Given the description of an element on the screen output the (x, y) to click on. 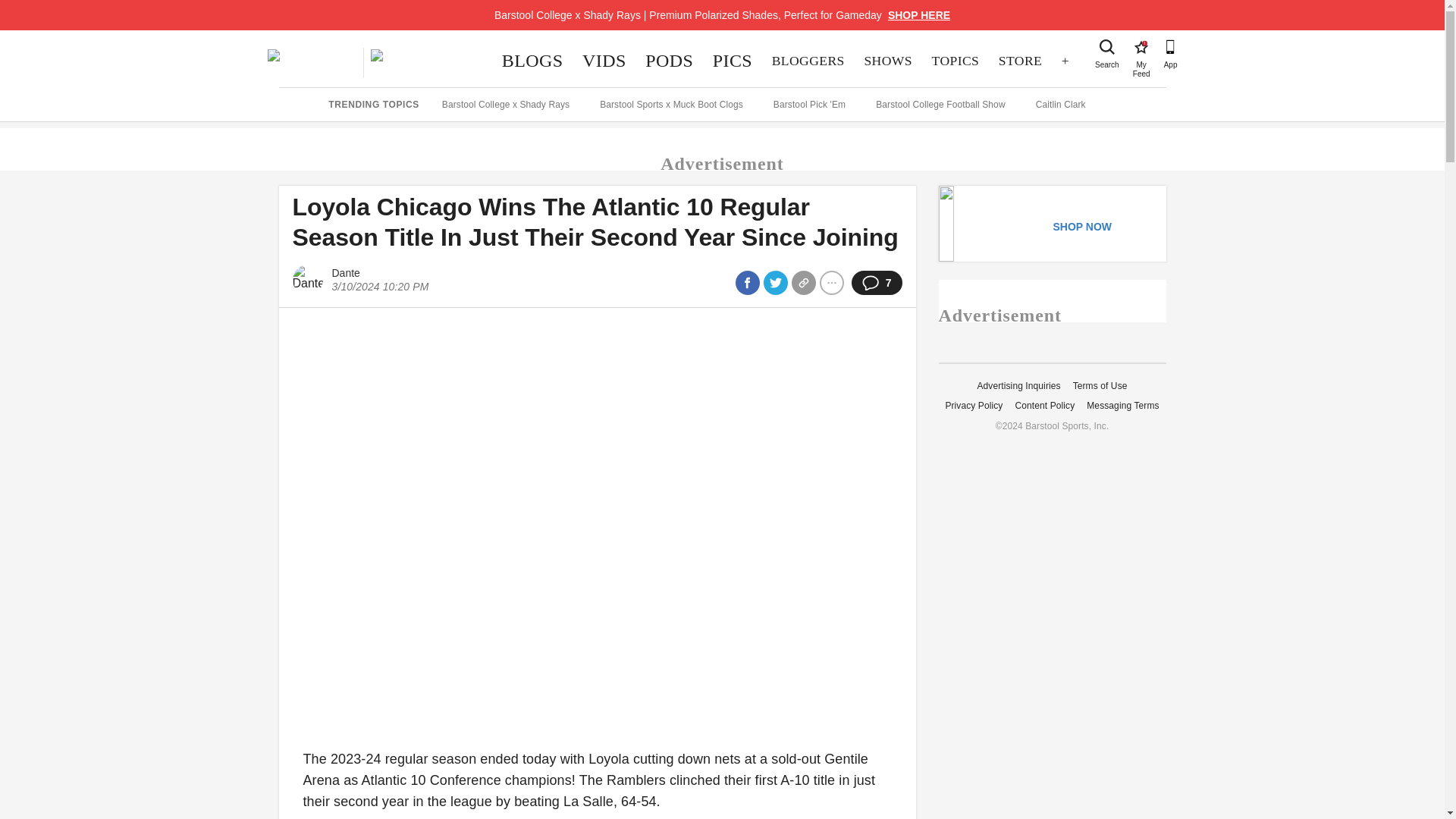
TOPICS (954, 60)
STORE (1019, 60)
PODS (668, 60)
BLOGGERS (807, 60)
SHOP HERE (919, 15)
BLOGS (1141, 46)
SHOWS (532, 60)
PICS (887, 60)
Search (732, 60)
